Given the description of an element on the screen output the (x, y) to click on. 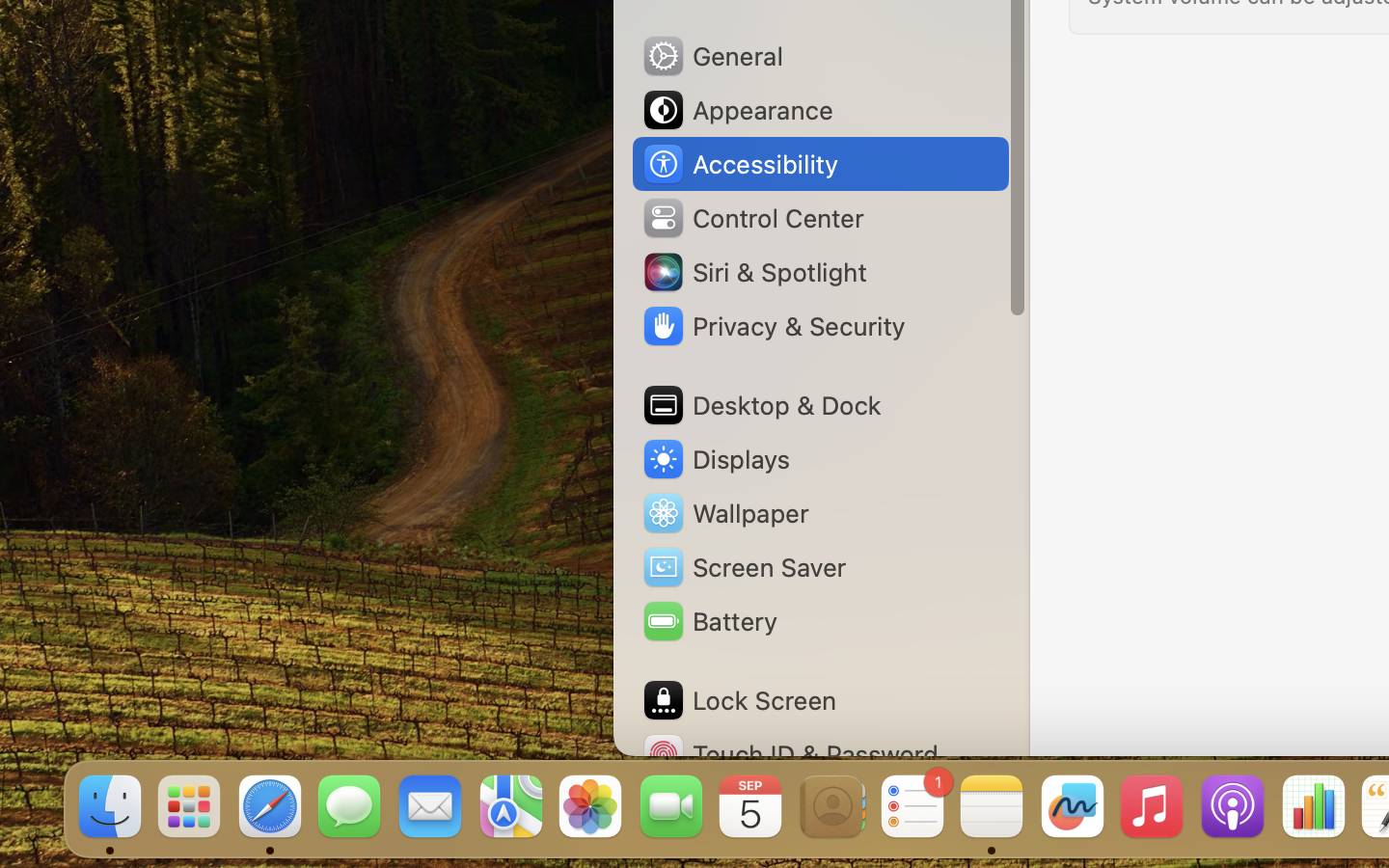
Lock Screen Element type: AXStaticText (738, 700)
Desktop & Dock Element type: AXStaticText (760, 404)
Wallpaper Element type: AXStaticText (724, 512)
Accessibility Element type: AXStaticText (739, 163)
Screen Saver Element type: AXStaticText (743, 566)
